Given the description of an element on the screen output the (x, y) to click on. 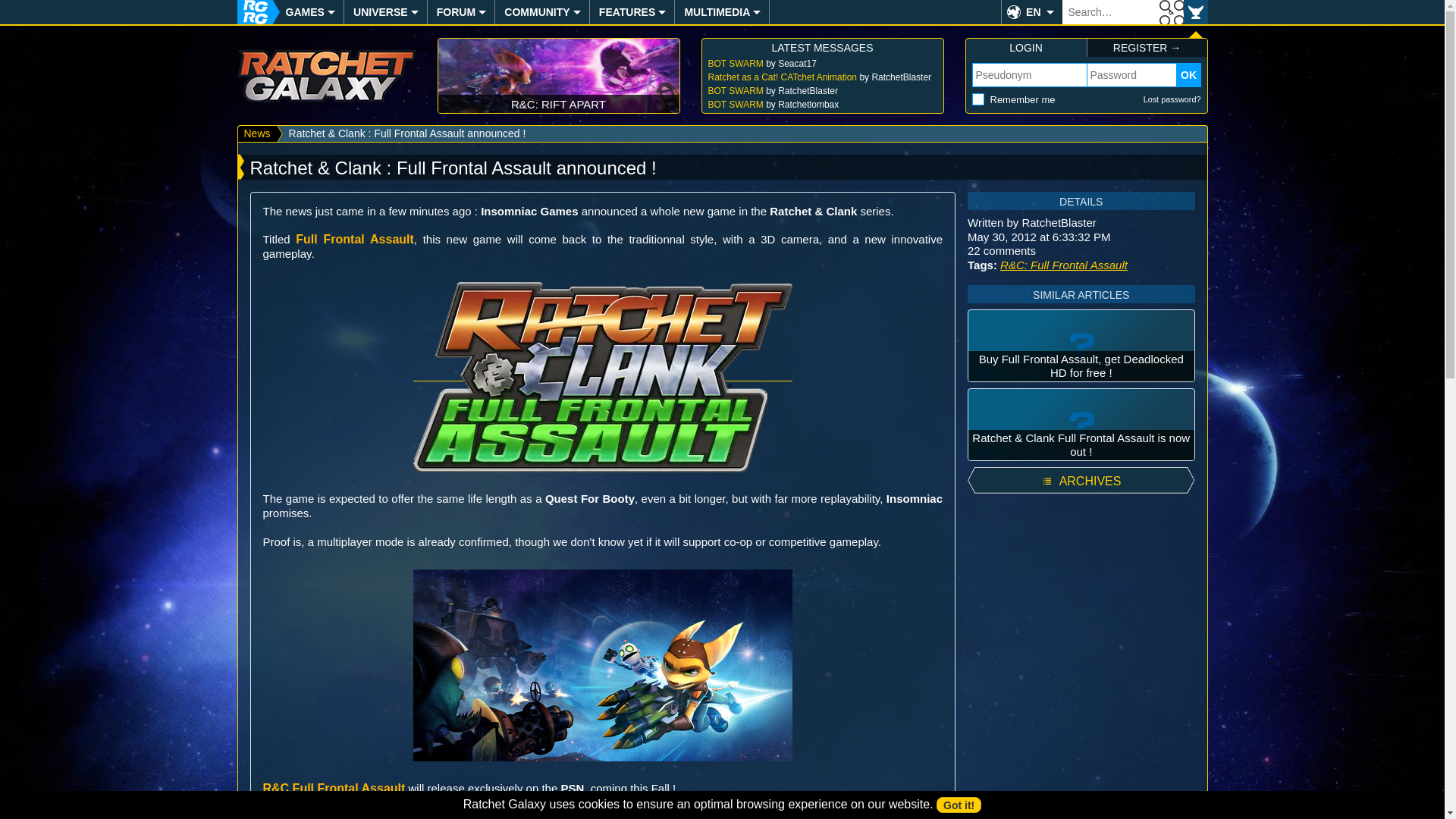
Accueil (250, 12)
OK (1170, 12)
May 30, 2012 at 6:33:32 PM (1038, 236)
FORUM (455, 12)
BOT SWARM by Ratchetlombax - Sep 19, 2023 (822, 104)
OK (1188, 74)
BOT SWARM by Seacat17 - Sep 20, 2023 (822, 63)
BOT SWARM by RatchetBlaster - Sep 20, 2023 (822, 90)
OK (1170, 12)
